Given the description of an element on the screen output the (x, y) to click on. 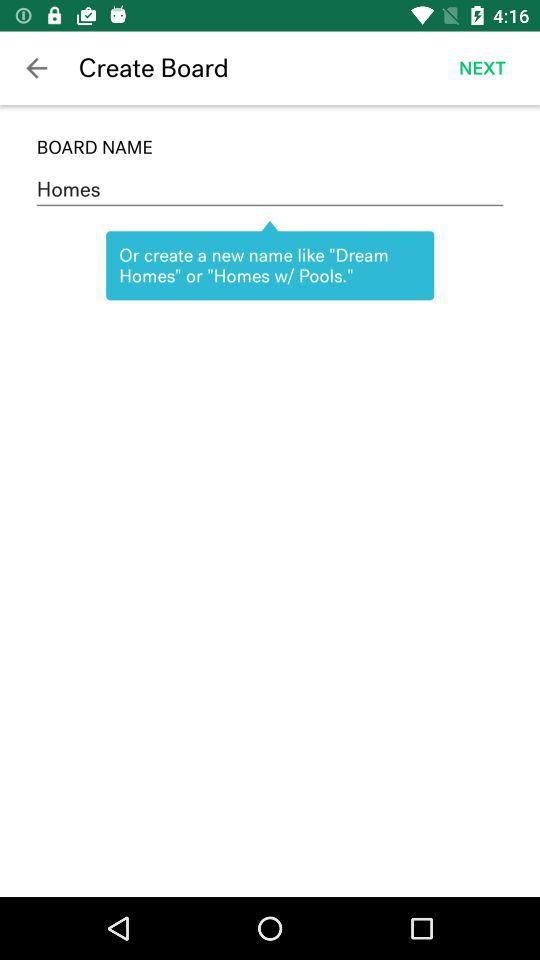
choose next at the top right corner (482, 68)
